Given the description of an element on the screen output the (x, y) to click on. 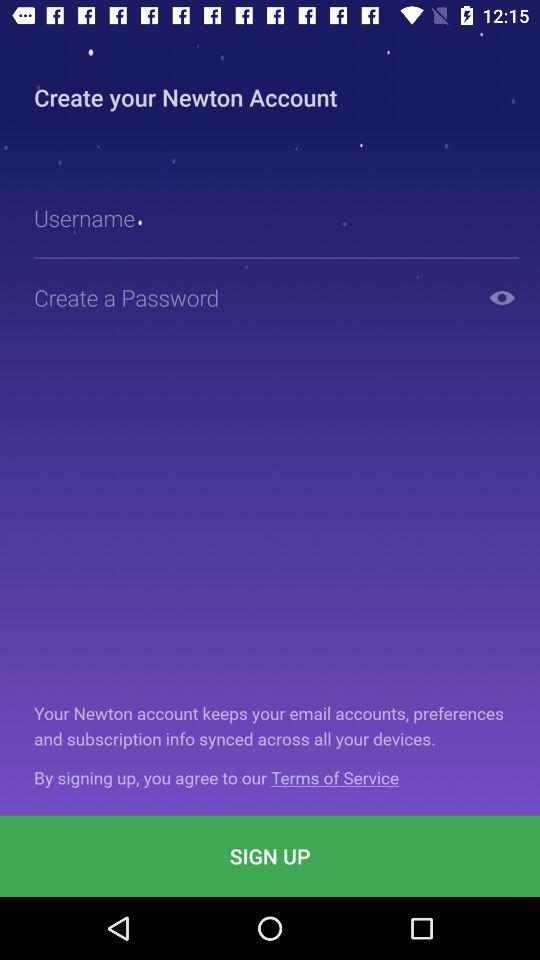
show password (501, 297)
